Given the description of an element on the screen output the (x, y) to click on. 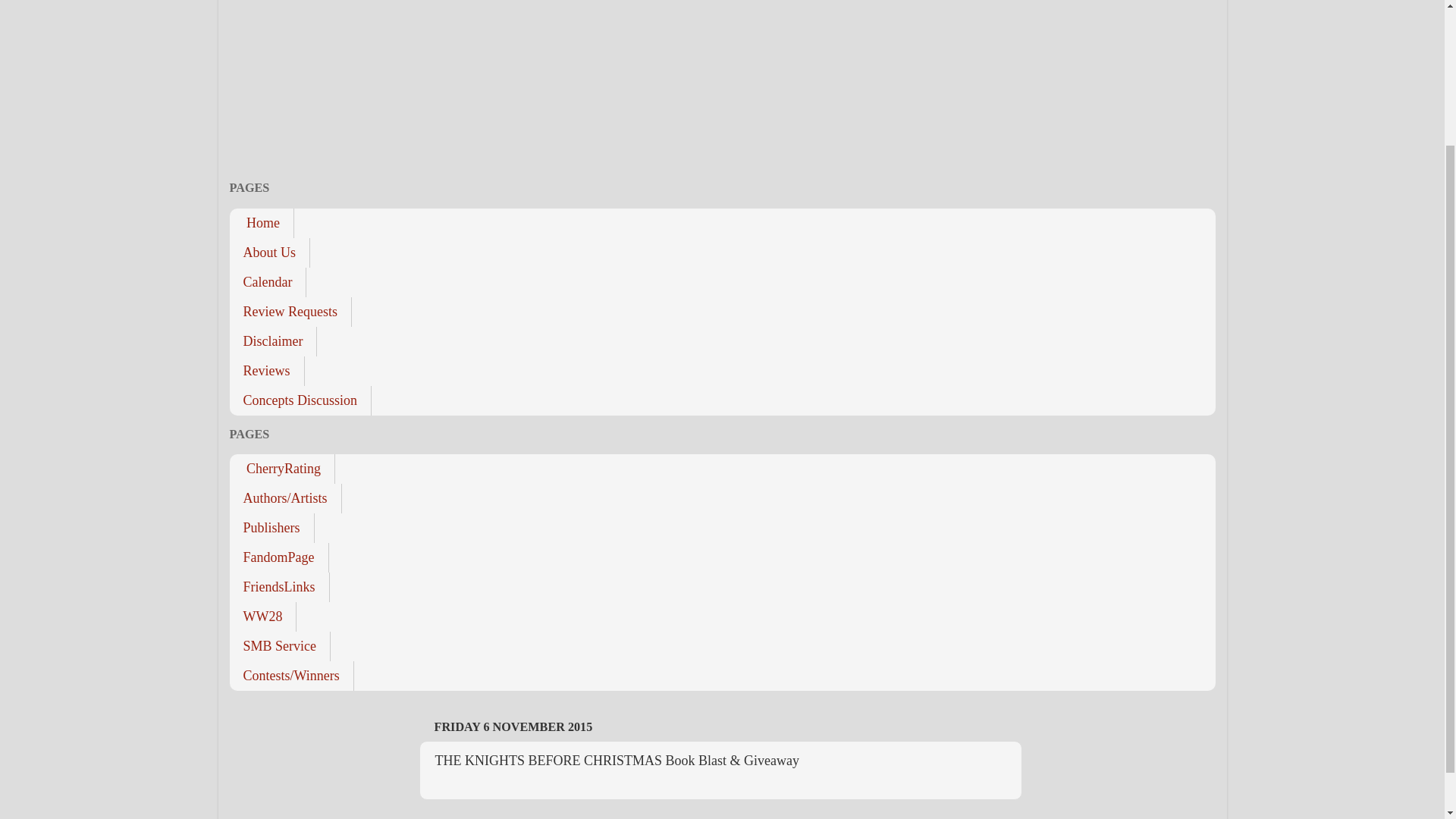
Publishers (271, 527)
FandomPage (278, 557)
Review Requests (289, 310)
About Us (269, 251)
Concepts Discussion (299, 400)
CherryRating (281, 469)
Disclaimer (272, 341)
FriendsLinks (278, 586)
WW28 (262, 616)
Home (261, 223)
